Given the description of an element on the screen output the (x, y) to click on. 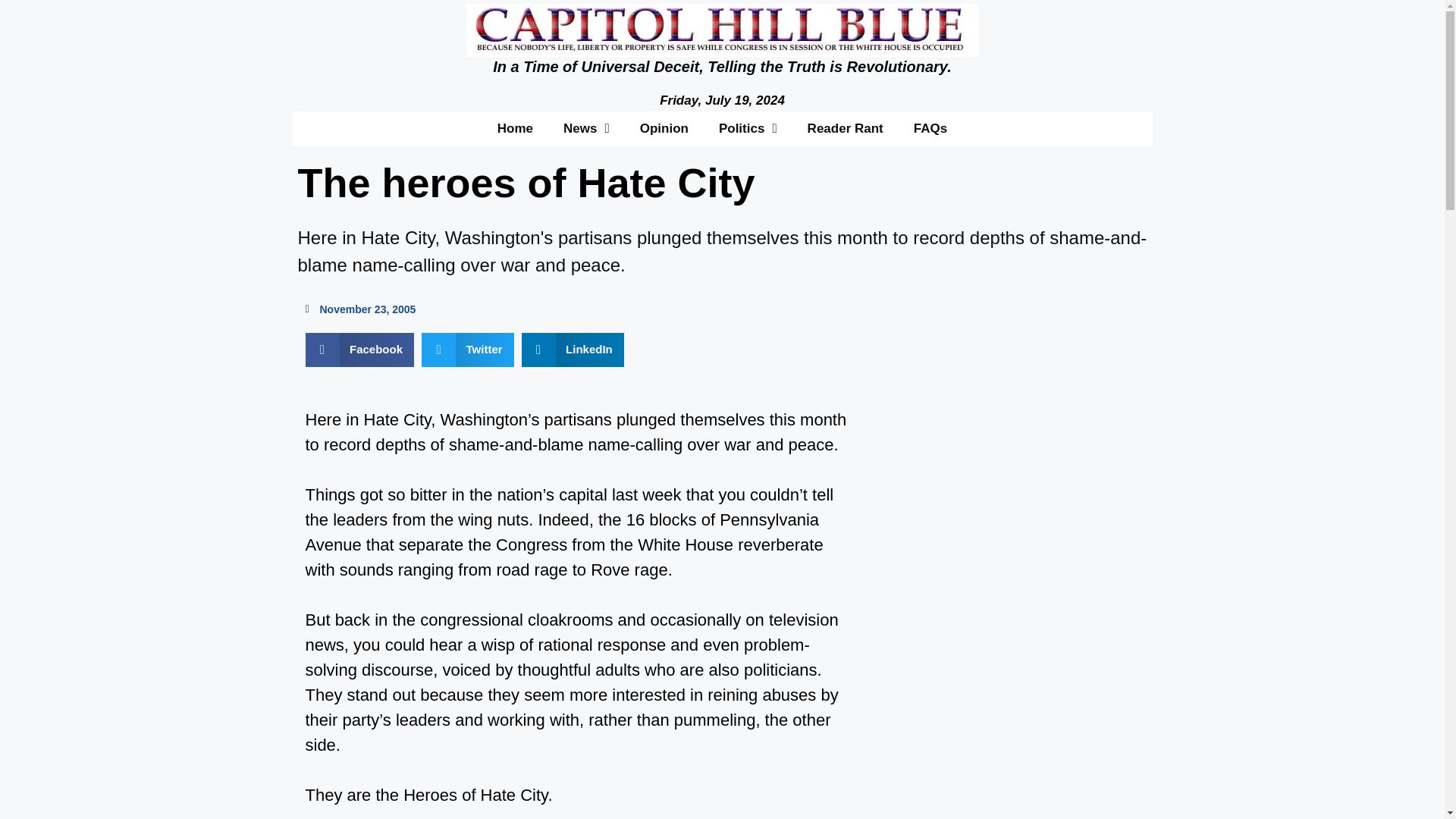
November 23, 2005 (359, 309)
News (586, 127)
Home (514, 127)
Reader Rant (845, 127)
Opinion (663, 127)
FAQs (930, 127)
Politics (747, 127)
